Given the description of an element on the screen output the (x, y) to click on. 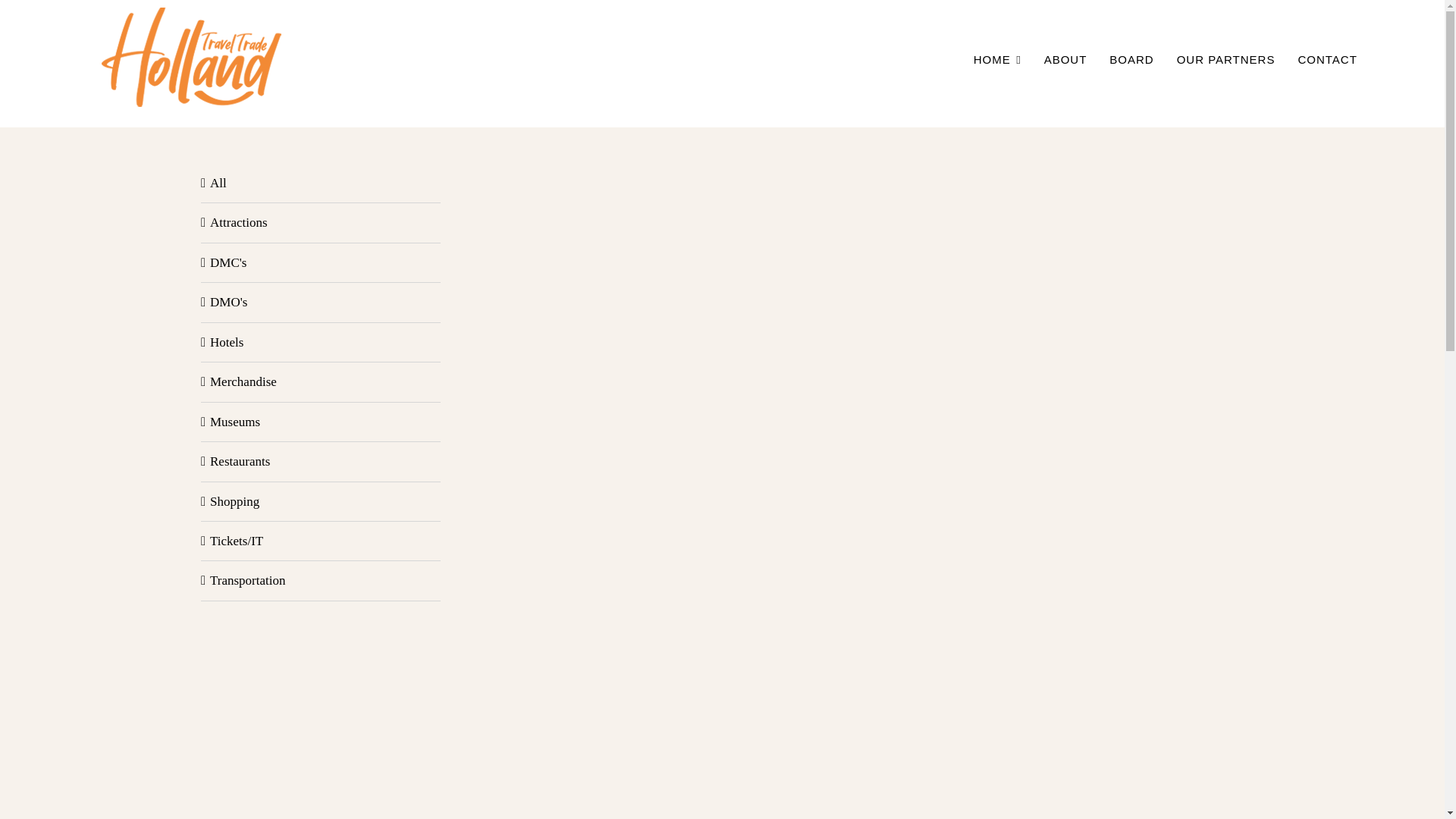
Shopping (320, 501)
All (320, 182)
Attractions (320, 222)
Transportation (320, 580)
ABOUT (1065, 59)
BOARD (1131, 59)
Restaurants (320, 461)
DMC's (320, 262)
DMO's (320, 301)
HOME (998, 59)
CONTACT (1326, 59)
Hotels (320, 341)
Merchandise (320, 381)
Museums (320, 422)
OUR PARTNERS (1225, 59)
